Given the description of an element on the screen output the (x, y) to click on. 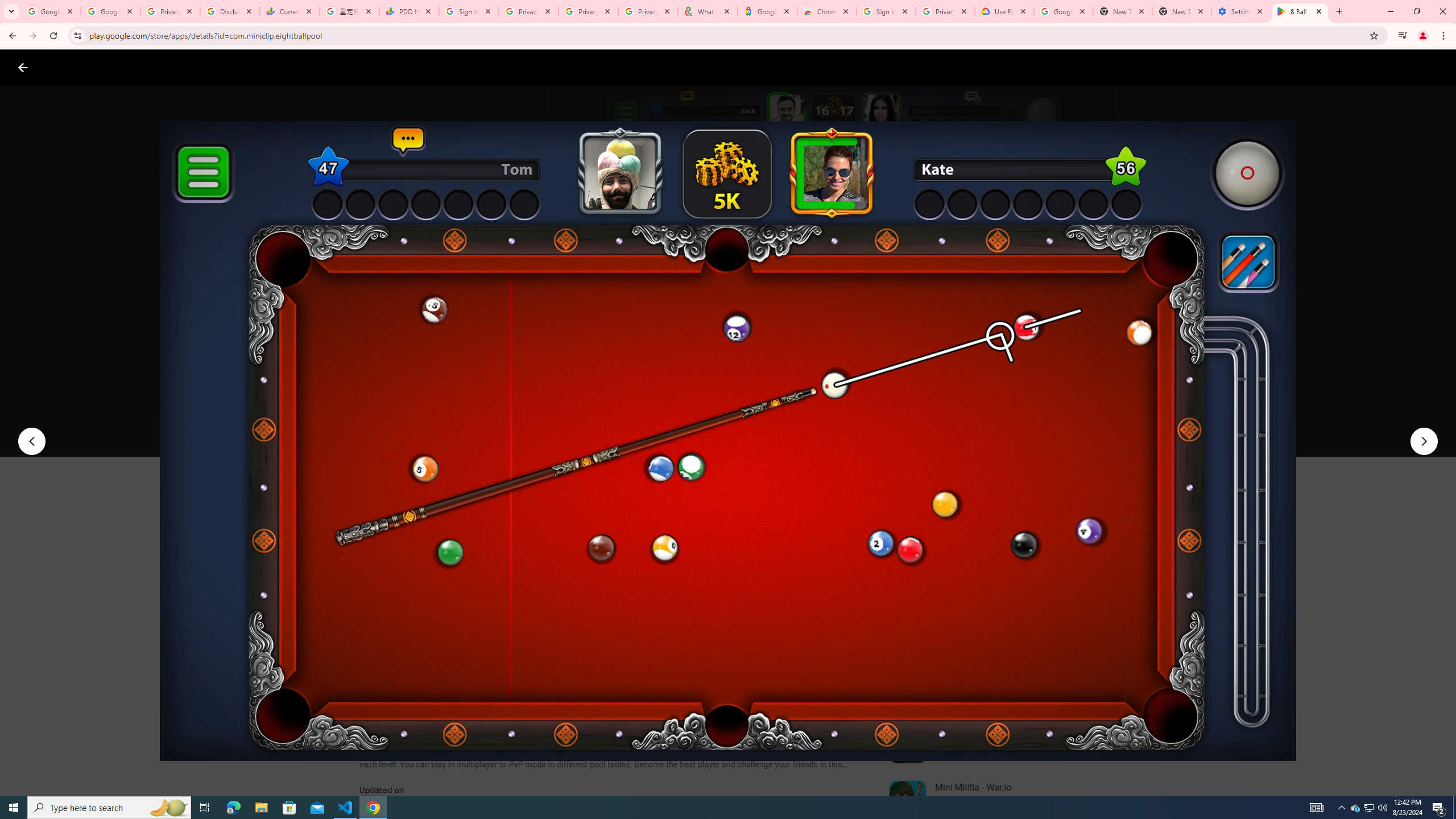
8 Ball Pool - Apps on Google Play (1300, 11)
Apps (182, 67)
Expand (978, 497)
Google Play logo (64, 67)
Privacy Checkup (647, 11)
Content rating (553, 373)
Google Workspace Admin Community (50, 11)
Chrome Web Store - Color themes by Chrome (826, 11)
Settings - System (1241, 11)
